Given the description of an element on the screen output the (x, y) to click on. 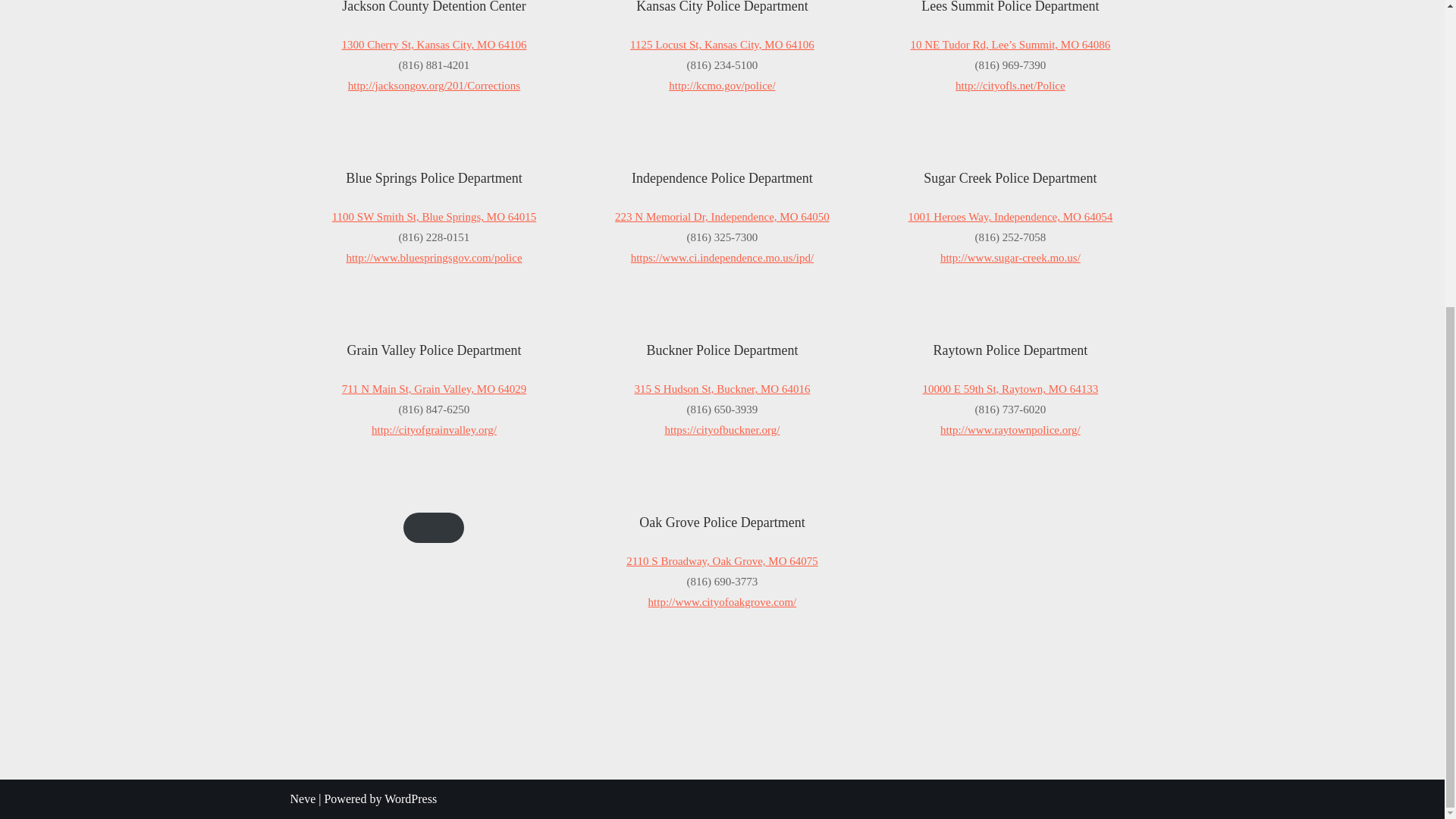
Neve (302, 798)
1100 SW Smith St, Blue Springs, MO 64015 (434, 216)
1125 Locust St, Kansas City, MO 64106 (721, 44)
711 N Main St, Grain Valley, MO 64029 (434, 388)
315 S Hudson St, Buckner, MO 64016 (721, 388)
1001 Heroes Way, Independence, MO 64054 (1010, 216)
223 N Memorial Dr, Independence, MO 64050 (721, 216)
10000 E 59th St, Raytown, MO 64133 (1011, 388)
1300 Cherry St, Kansas City, MO 64106 (432, 44)
2110 S Broadway, Oak Grove, MO 64075 (722, 561)
